Given the description of an element on the screen output the (x, y) to click on. 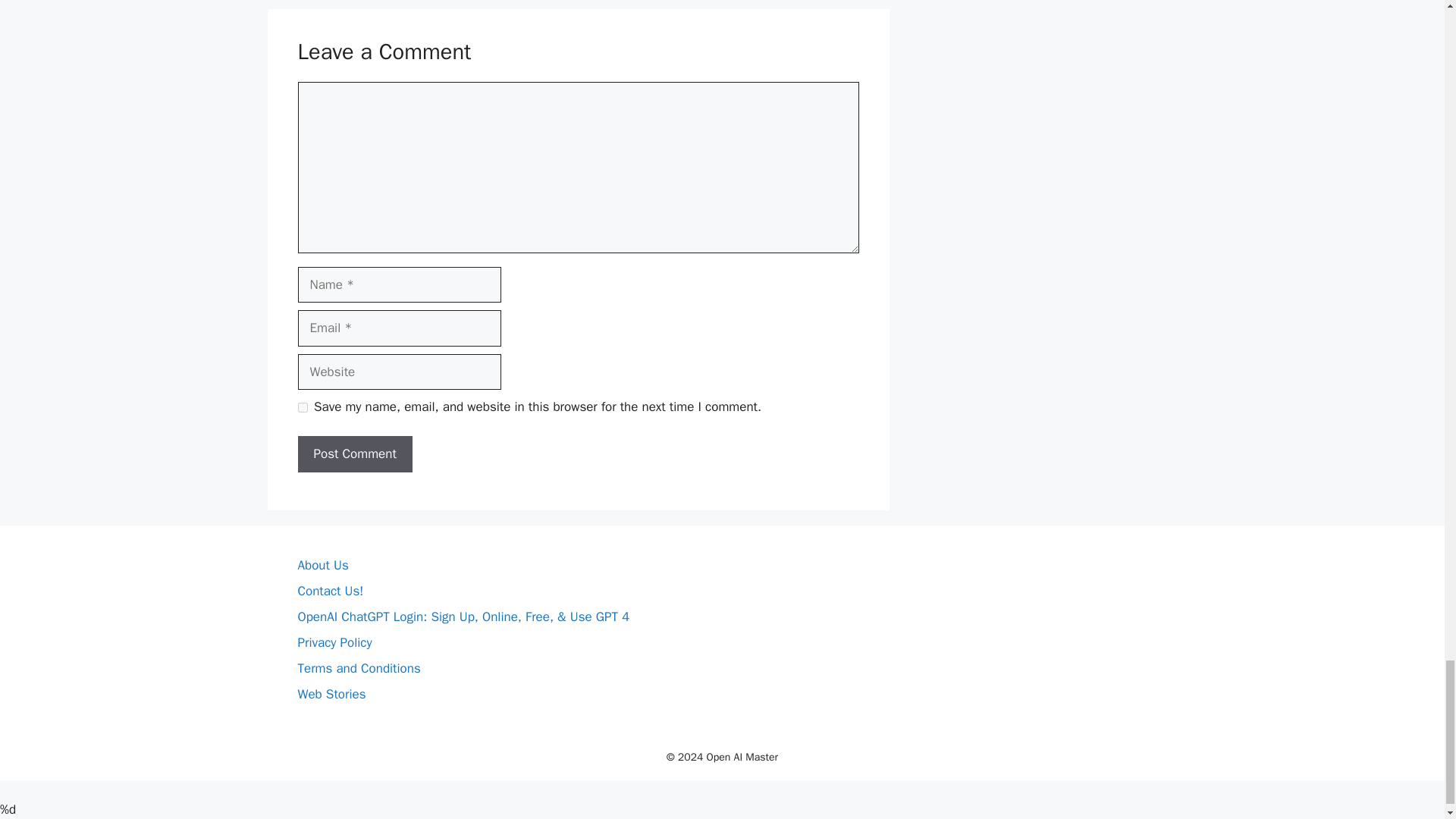
Post Comment (354, 453)
Post Comment (354, 453)
yes (302, 407)
